Given the description of an element on the screen output the (x, y) to click on. 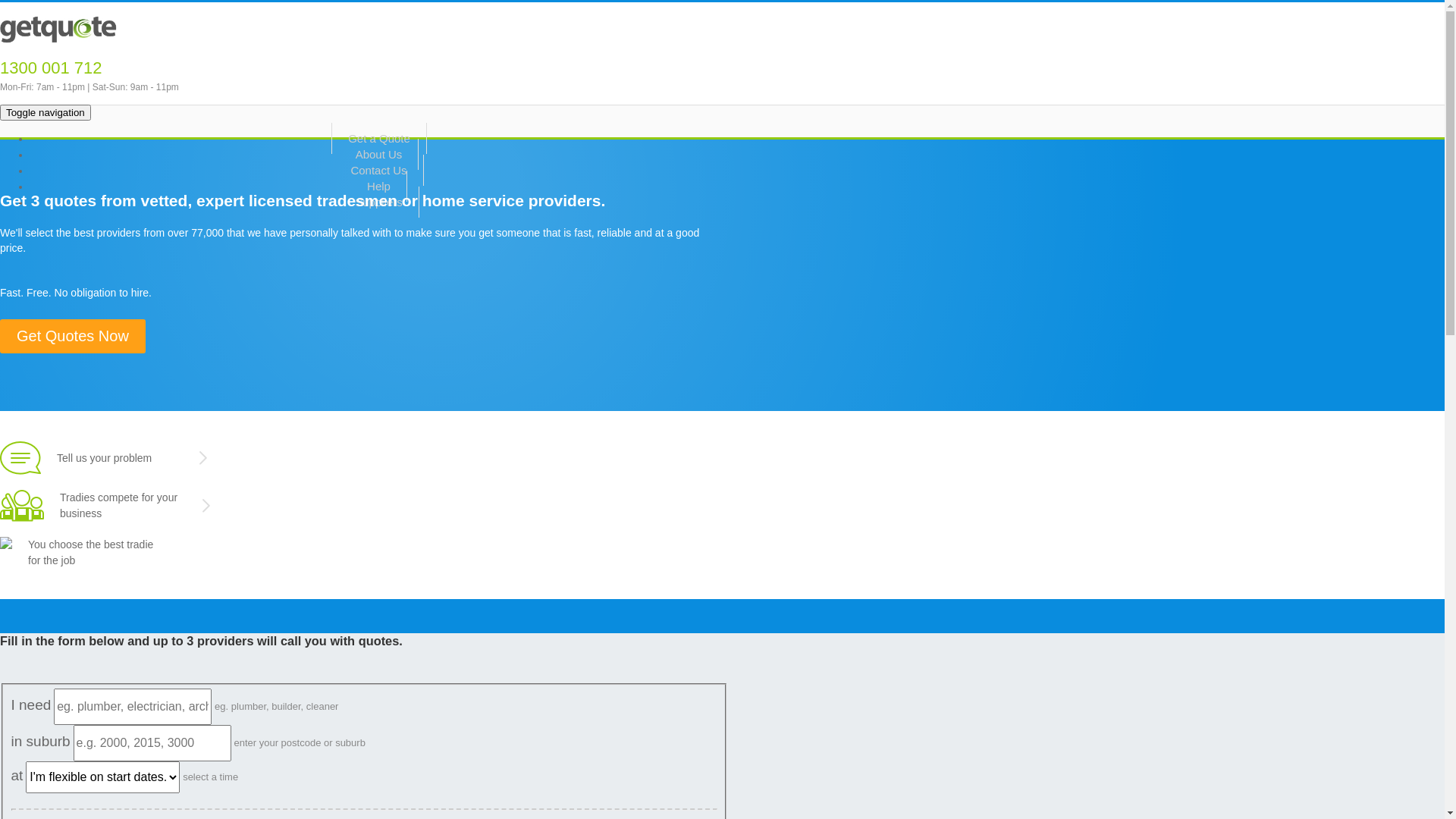
Toggle navigation Element type: text (45, 112)
Help Element type: text (379, 185)
About Us Element type: text (379, 153)
Get Quotes Now Element type: text (72, 336)
Get a Quote Element type: text (378, 137)
Suppliers Element type: text (378, 201)
Contact Us Element type: text (378, 169)
